Given the description of an element on the screen output the (x, y) to click on. 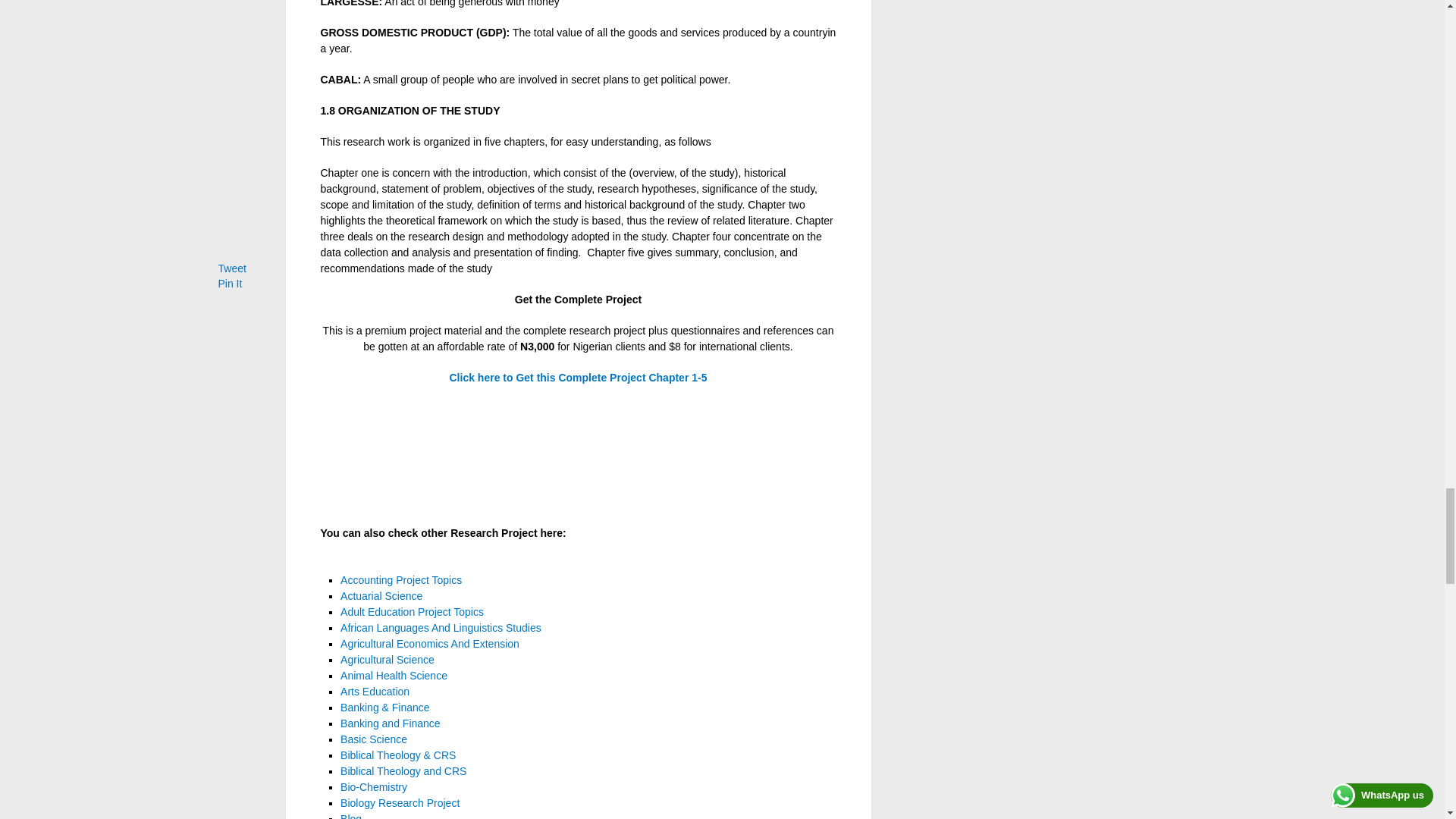
Agricultural Science (386, 659)
Bio-Chemistry (373, 787)
Animal Health Science (393, 675)
Arts Education (374, 691)
Biblical Theology and CRS (402, 770)
Agricultural Economics And Extension (429, 644)
Biology Research Project (400, 802)
Click here to Get this Complete Project Chapter 1-5 (577, 377)
Blog (350, 816)
African Languages And Linguistics Studies (440, 627)
